Given the description of an element on the screen output the (x, y) to click on. 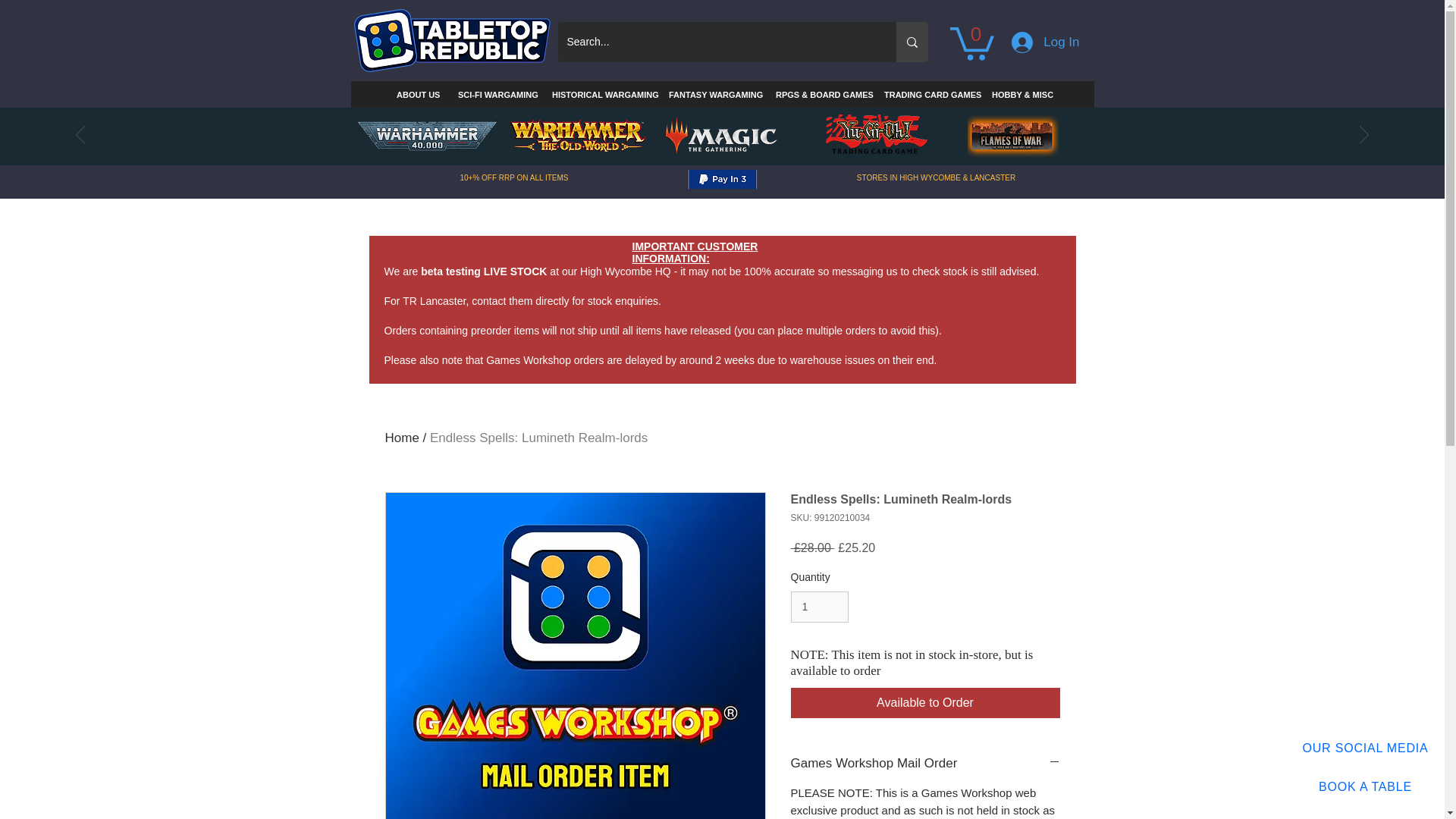
0 (970, 41)
Log In (1045, 42)
0 (970, 41)
1 (818, 606)
